Given the description of an element on the screen output the (x, y) to click on. 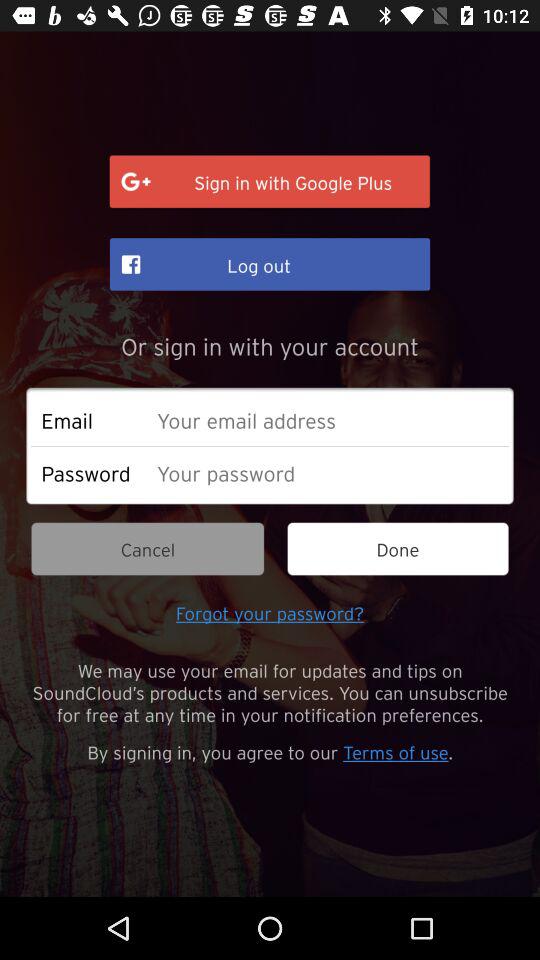
open the icon above we may use (269, 612)
